Given the description of an element on the screen output the (x, y) to click on. 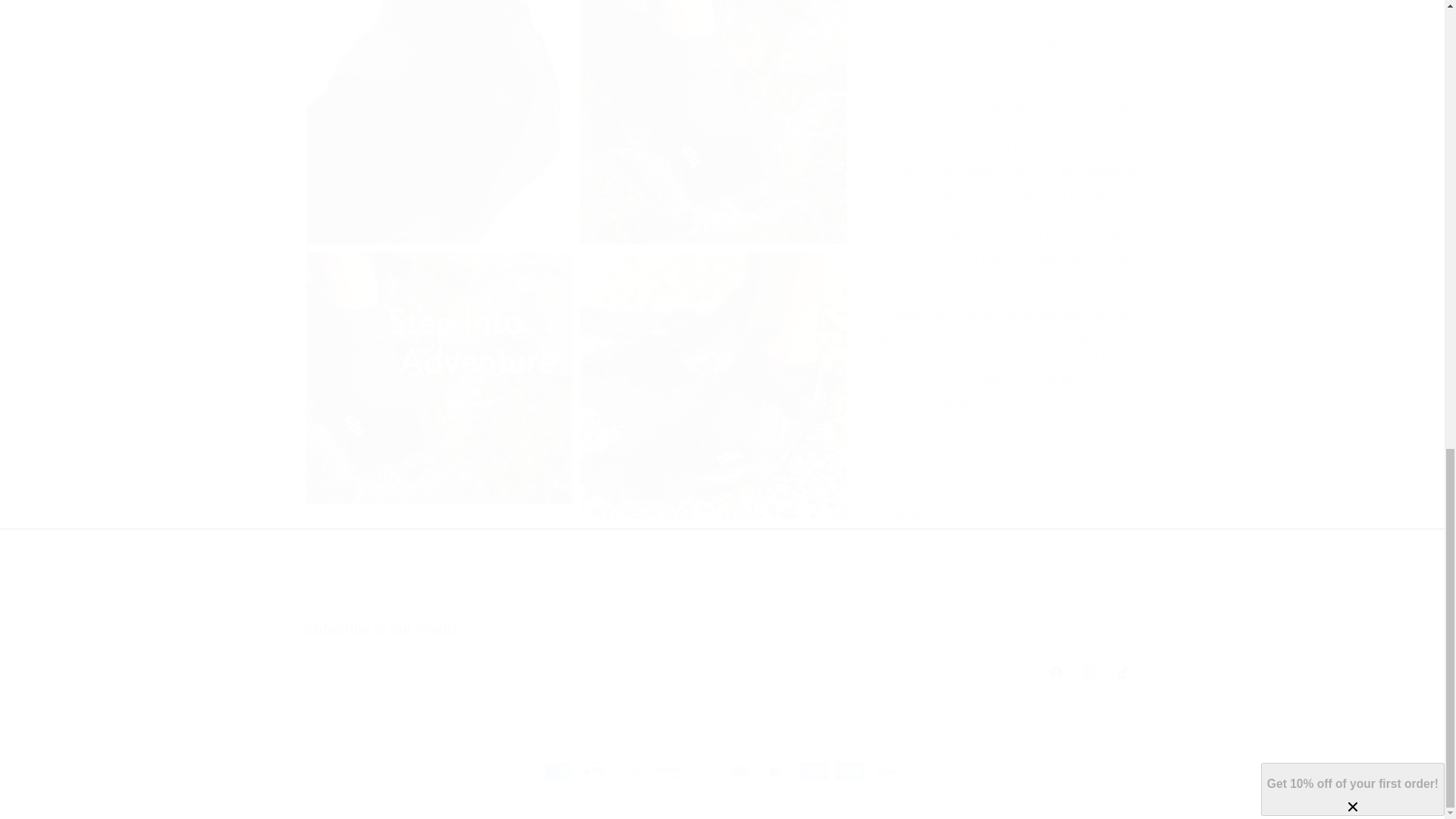
Open media 5 in modal (713, 115)
Open media 7 in modal (713, 369)
Open media 6 in modal (438, 369)
Open media 4 in modal (721, 654)
